Given the description of an element on the screen output the (x, y) to click on. 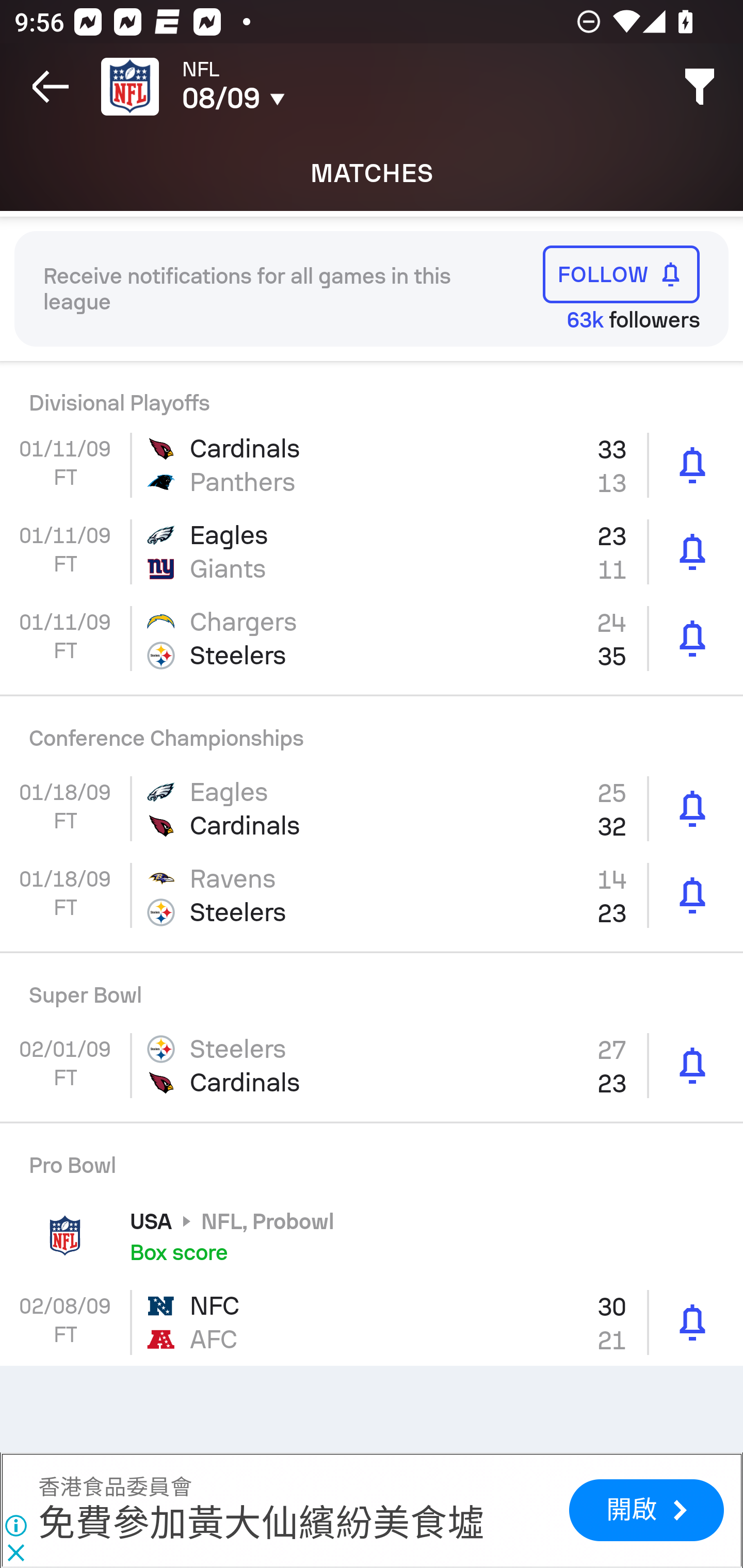
Navigate up (50, 86)
Find (699, 86)
08/09 (300, 98)
FOLLOW (621, 274)
01/10/09 FT Ravens 13 Titans 10 (371, 390)
01/11/09 FT Cardinals 33 Panthers 13 (371, 464)
01/11/09 FT Eagles 23 Giants 11 (371, 551)
01/11/09 FT Chargers 24 Steelers 35 (371, 638)
Conference Championships (371, 730)
01/18/09 FT Eagles 25 Cardinals 32 (371, 808)
01/18/09 FT Ravens 14 Steelers 23 (371, 895)
Super Bowl (371, 987)
02/01/09 FT Steelers 27 Cardinals 23 (371, 1065)
Pro Bowl (371, 1157)
USA NFL, Probowl Box score (371, 1236)
02/08/09 FT NFC 30 AFC 21 (371, 1322)
香港食品委員會 (114, 1486)
開啟 (645, 1509)
免費參加黃大仙繽紛美食墟 (260, 1523)
